Given the description of an element on the screen output the (x, y) to click on. 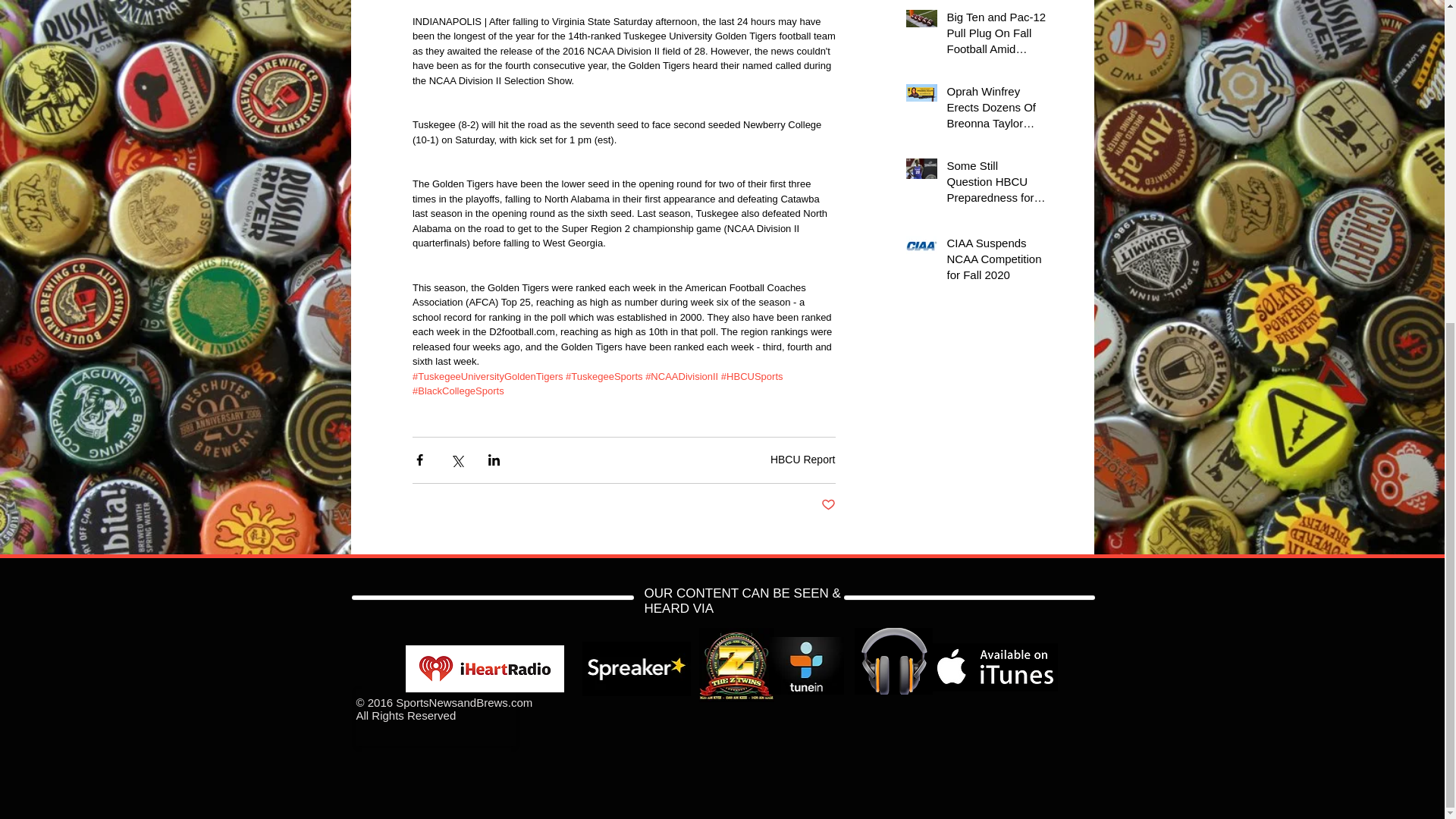
HBCU Report (802, 459)
Some Still Question HBCU Preparedness for Blue Chip Athletes (995, 184)
Big Ten and Pac-12 Pull Plug On Fall Football Amid Pandemic (995, 36)
Post not marked as liked (827, 505)
CIAA Suspends NCAA Competition for Fall 2020 (995, 262)
